Given the description of an element on the screen output the (x, y) to click on. 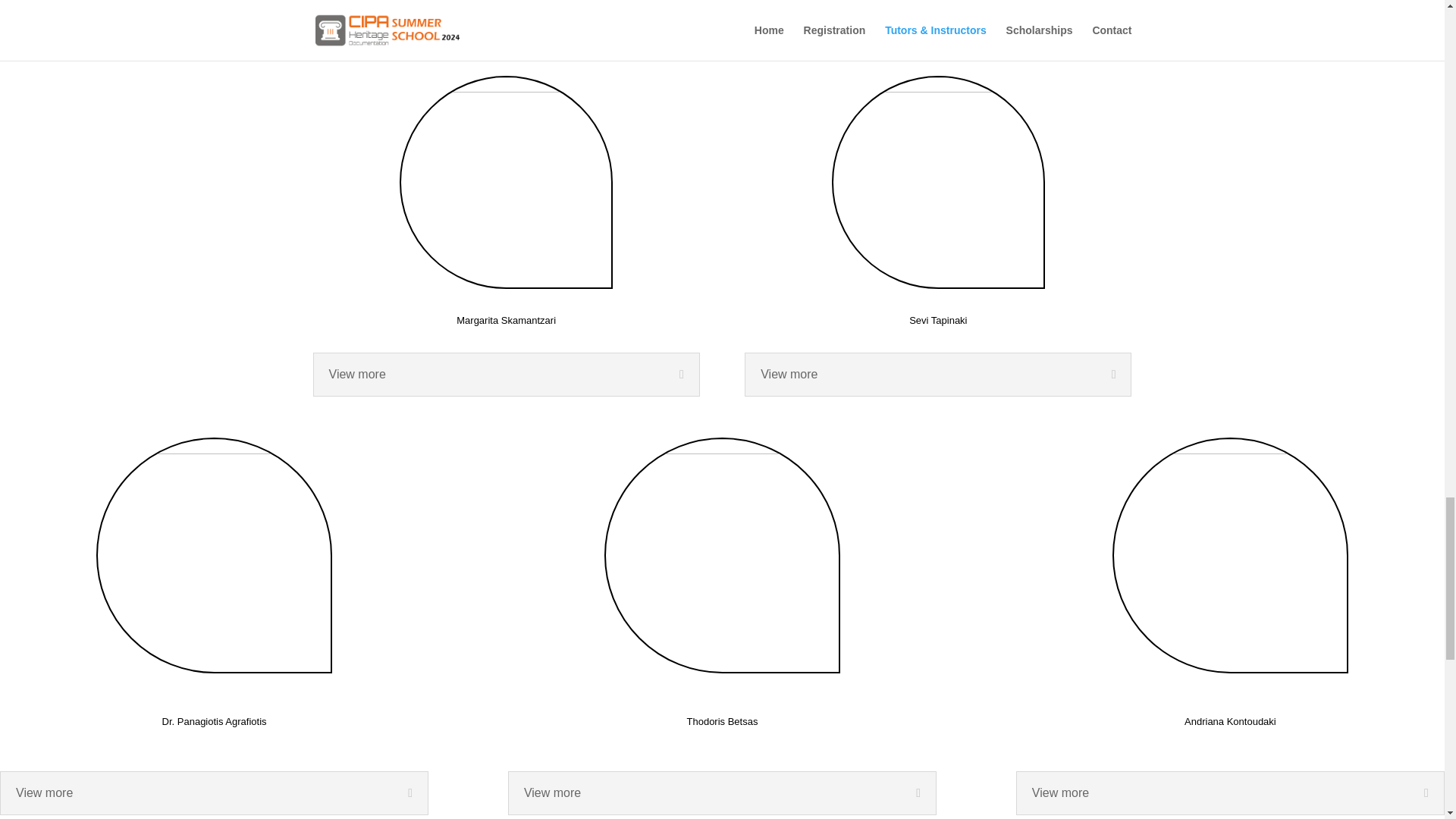
Agrafiotis (213, 554)
